Given the description of an element on the screen output the (x, y) to click on. 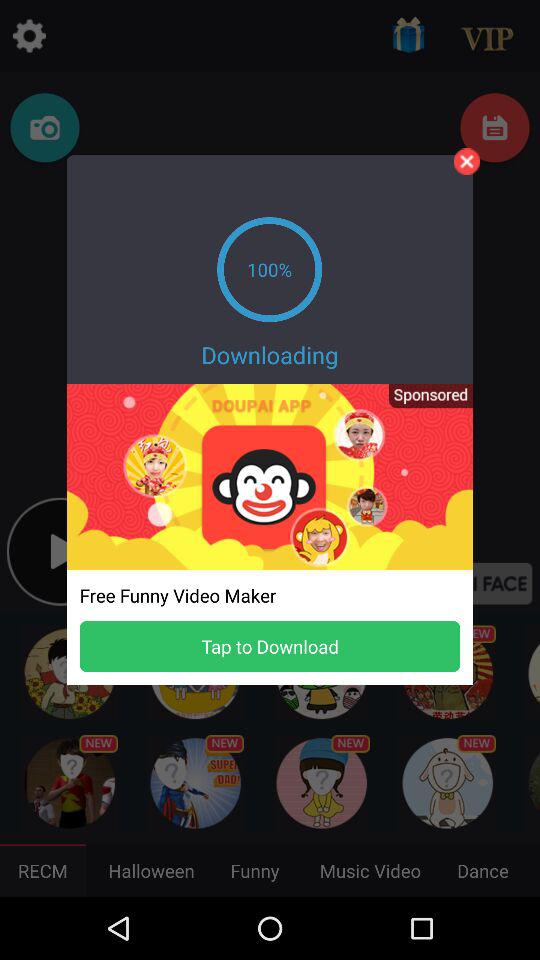
flip until the tap to download item (269, 646)
